Given the description of an element on the screen output the (x, y) to click on. 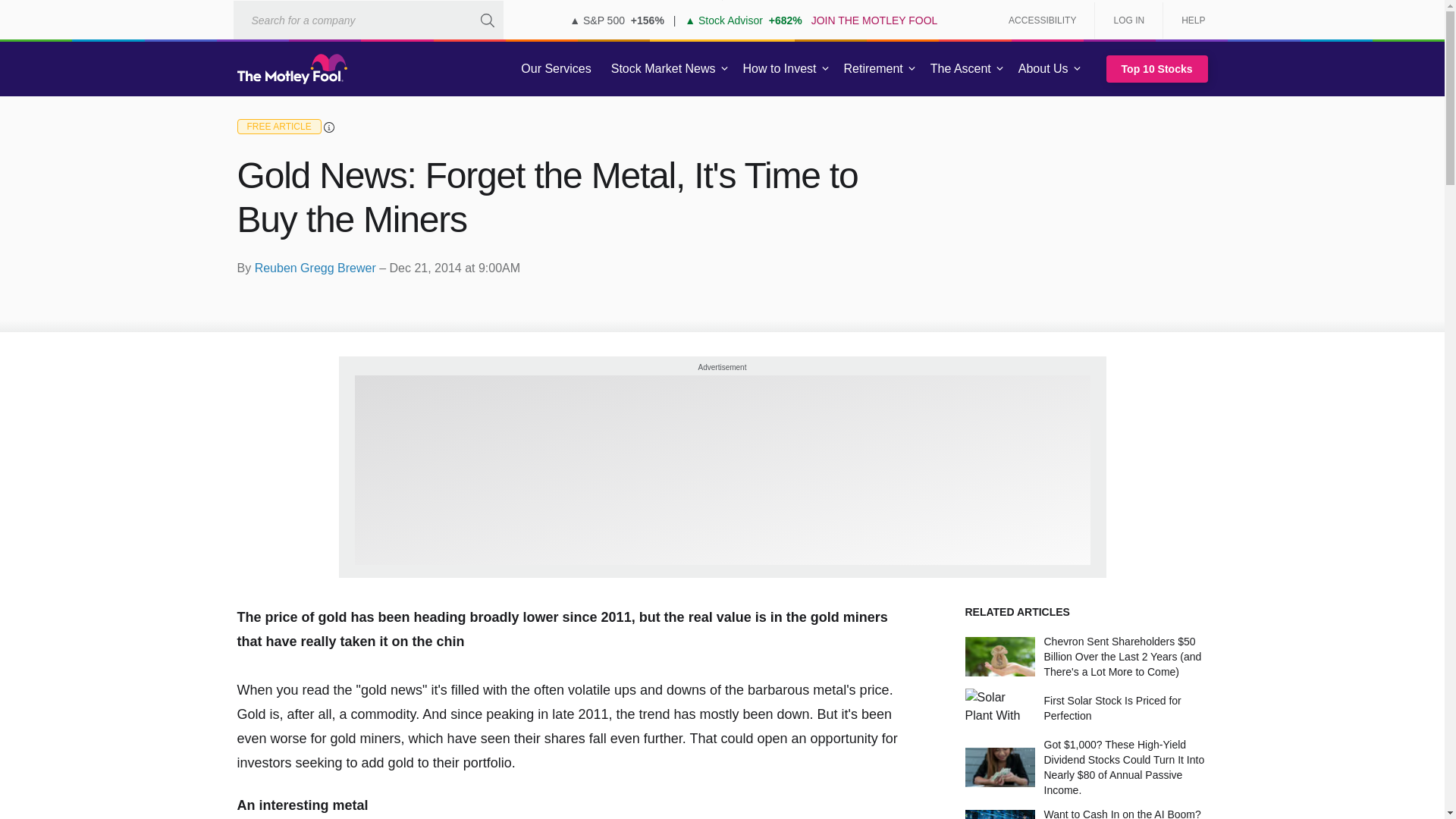
HELP (1187, 19)
Our Services (555, 68)
ACCESSIBILITY (1042, 19)
Stock Market News (662, 68)
How to Invest (779, 68)
LOG IN (1128, 19)
